Given the description of an element on the screen output the (x, y) to click on. 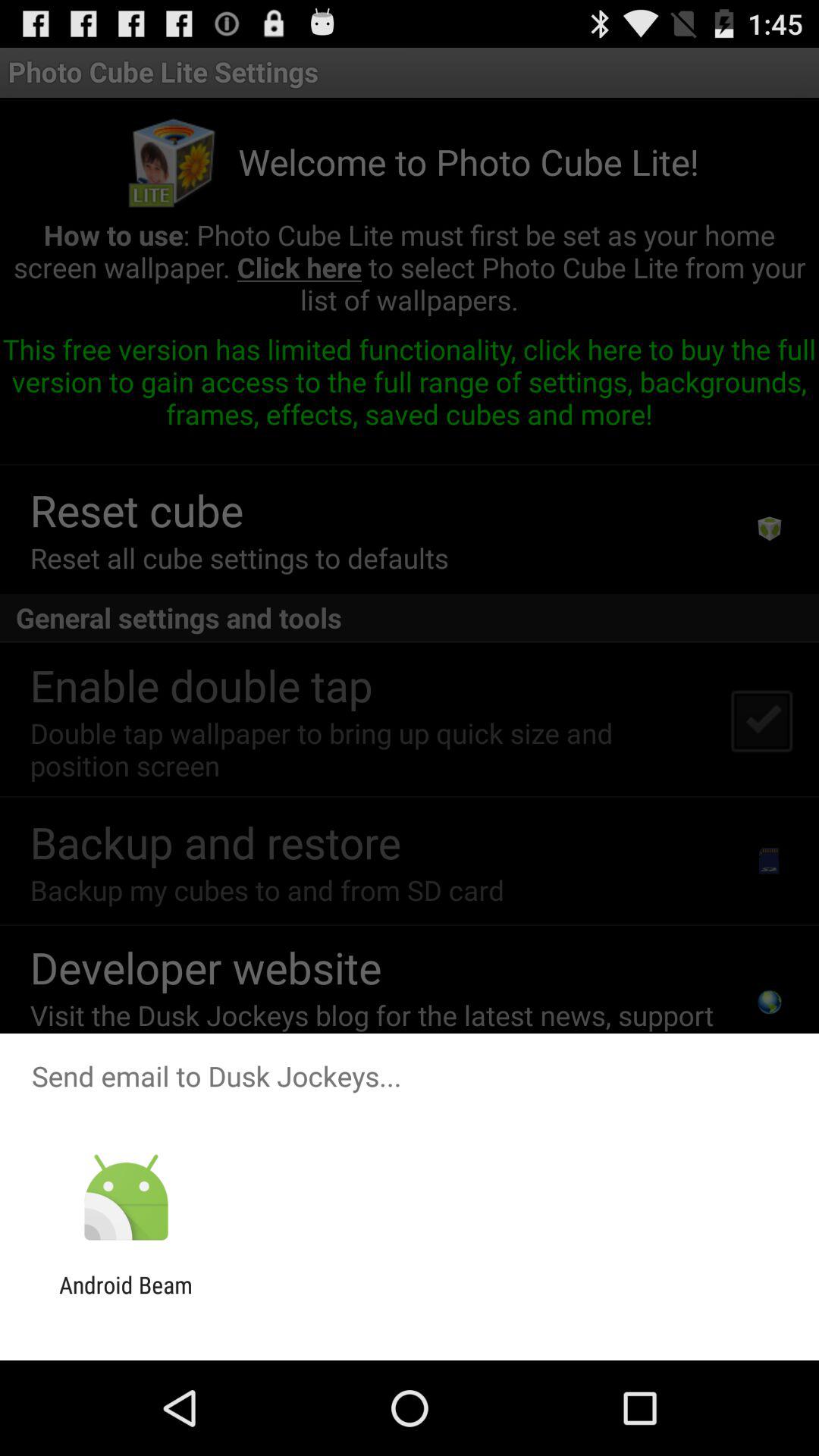
jump until android beam icon (125, 1298)
